Given the description of an element on the screen output the (x, y) to click on. 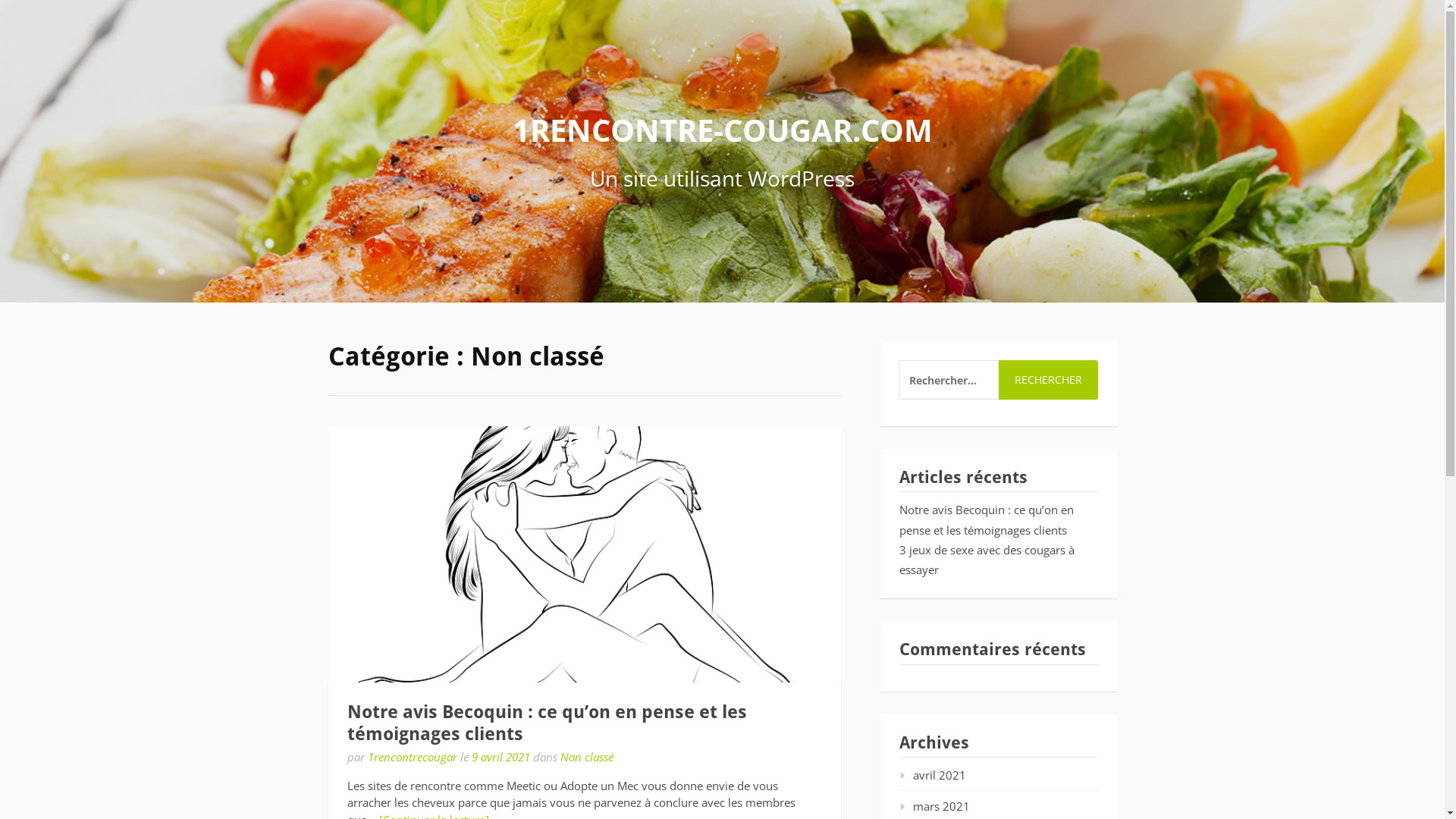
9 avril 2021 Element type: text (500, 756)
Aller au contenu Element type: text (0, 0)
1rencontrecougar Element type: text (411, 756)
avril 2021 Element type: text (932, 774)
Rechercher Element type: text (1047, 379)
mars 2021 Element type: text (934, 805)
1RENCONTRE-COUGAR.COM Element type: text (722, 129)
